Given the description of an element on the screen output the (x, y) to click on. 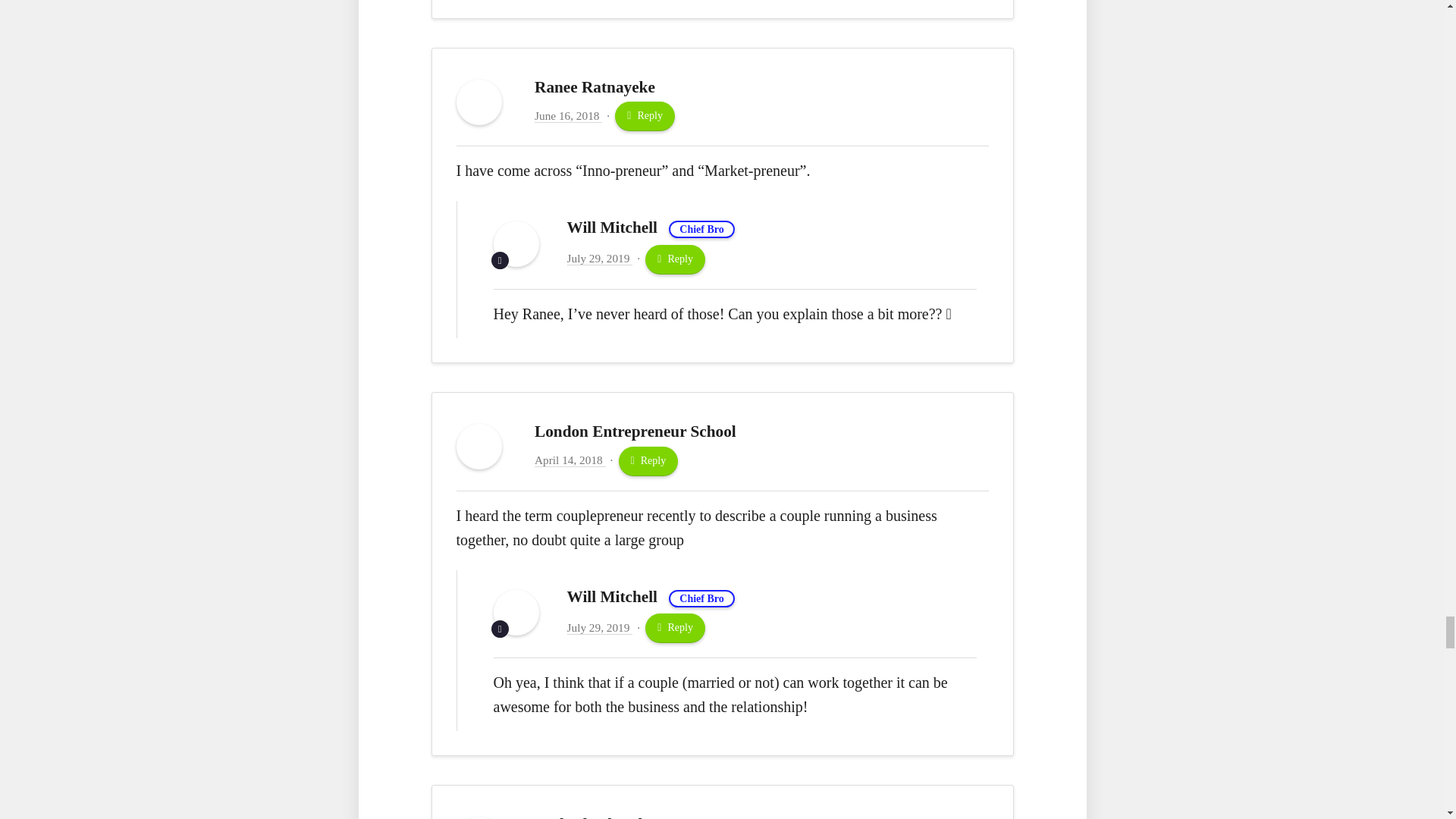
Gravatar for Prakash Chandra (479, 817)
Gravatar for Will Mitchell (515, 243)
Post Author (500, 260)
Post Author (500, 628)
Gravatar for Ranee Ratnayeke (479, 102)
Gravatar for London Entrepreneur School (479, 446)
Gravatar for Will Mitchell (515, 612)
